Given the description of an element on the screen output the (x, y) to click on. 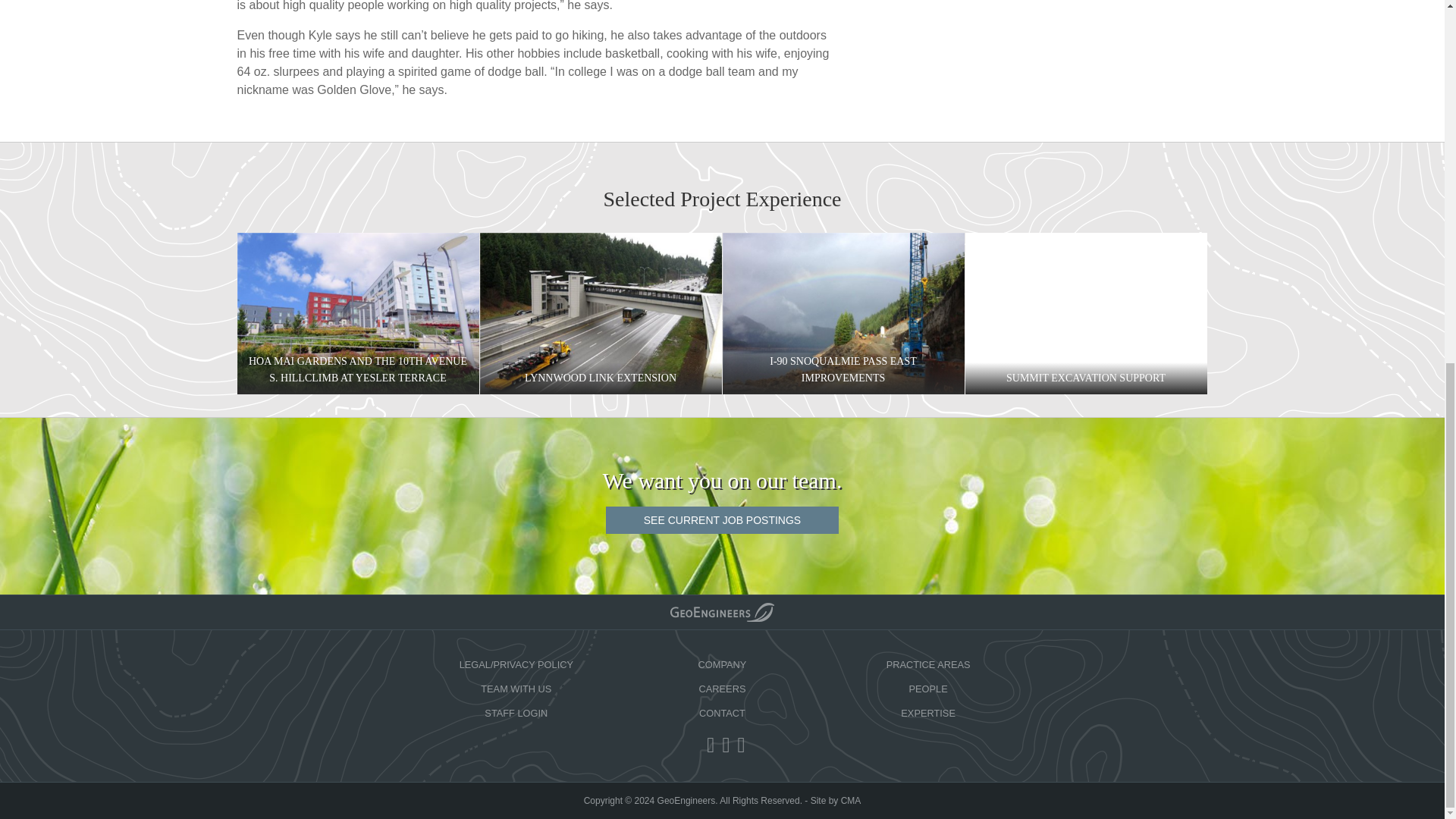
Back to Top (721, 611)
Website Design by Creative Media Alliance (835, 800)
